Given the description of an element on the screen output the (x, y) to click on. 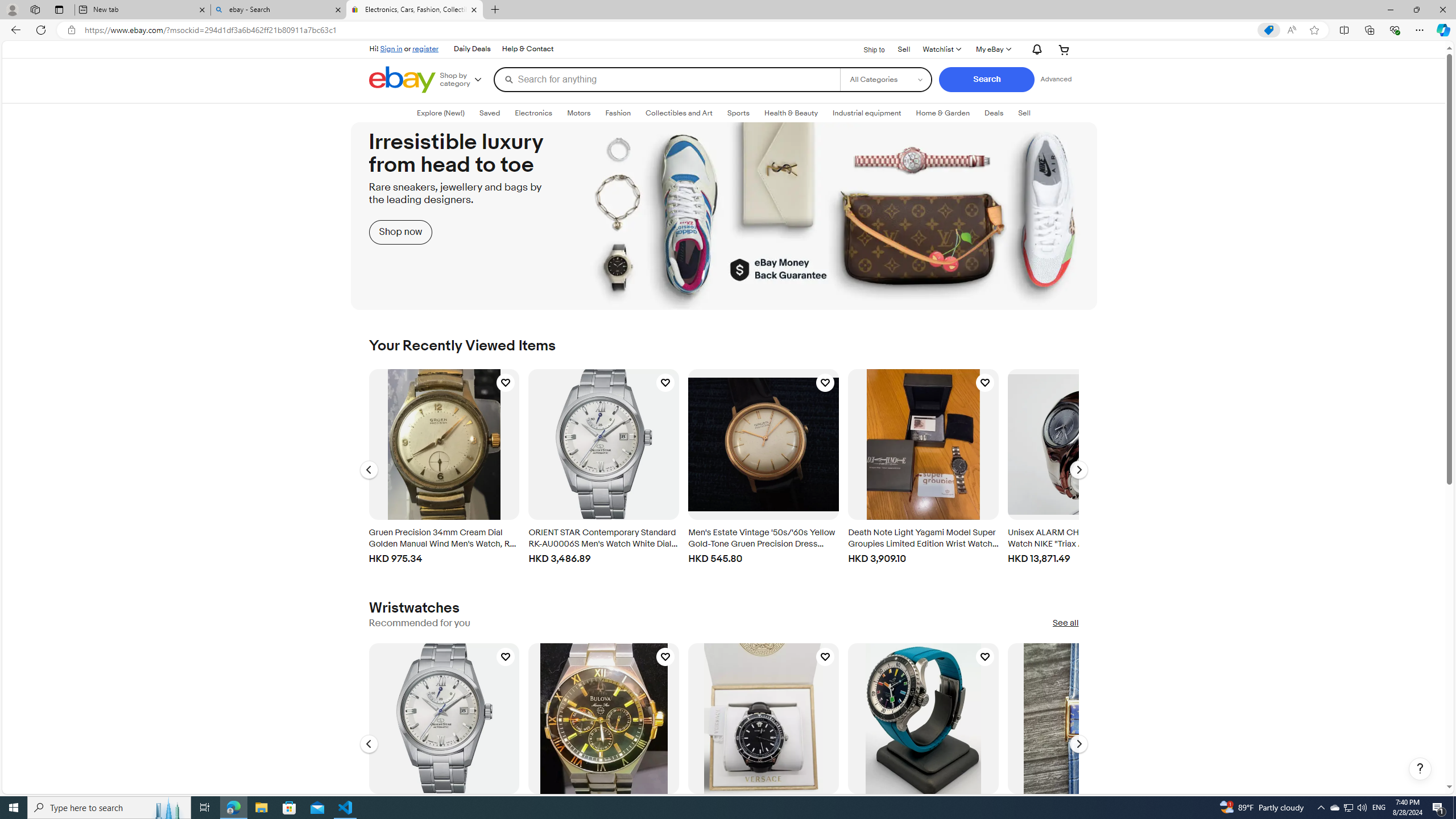
Your shopping cart (1064, 49)
Electronics, Cars, Fashion, Collectibles & More | eBay (414, 9)
AutomationID: gh-eb-Alerts (1035, 49)
Select a category for search (885, 78)
AutomationID: gh-minicart-hover (1064, 49)
AutomationID: gh-wl-click (940, 49)
